Given the description of an element on the screen output the (x, y) to click on. 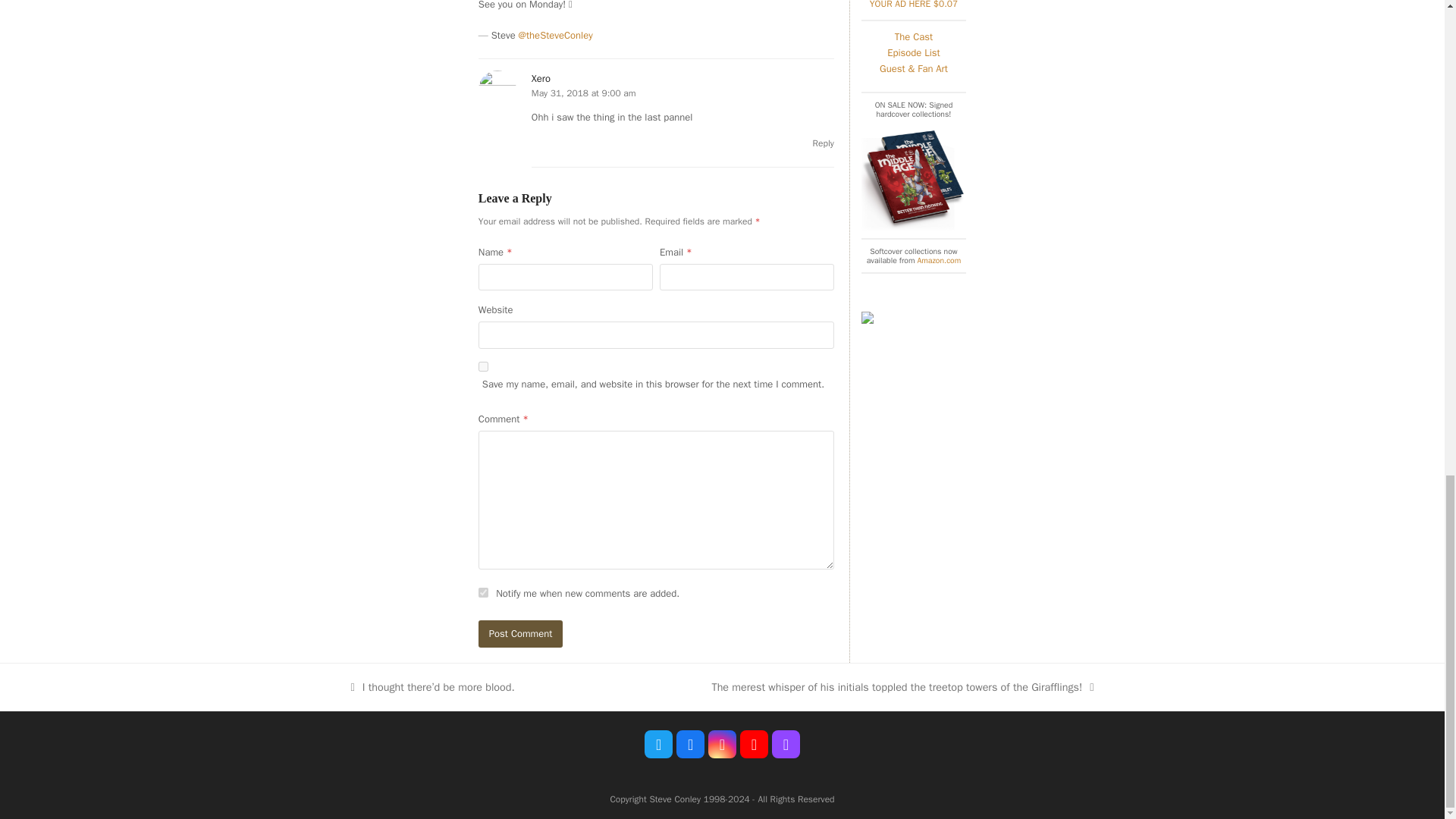
YouTube (753, 744)
Instagram (721, 744)
1 (483, 592)
Post Comment (521, 633)
yes (483, 366)
Reply (823, 143)
May 31, 2018 at 9:00 am (583, 92)
Twitch (785, 744)
Twitter (658, 744)
Post Comment (521, 633)
Vote for The Middle Age on TopWebComics! (867, 319)
Facebook (690, 744)
